Given the description of an element on the screen output the (x, y) to click on. 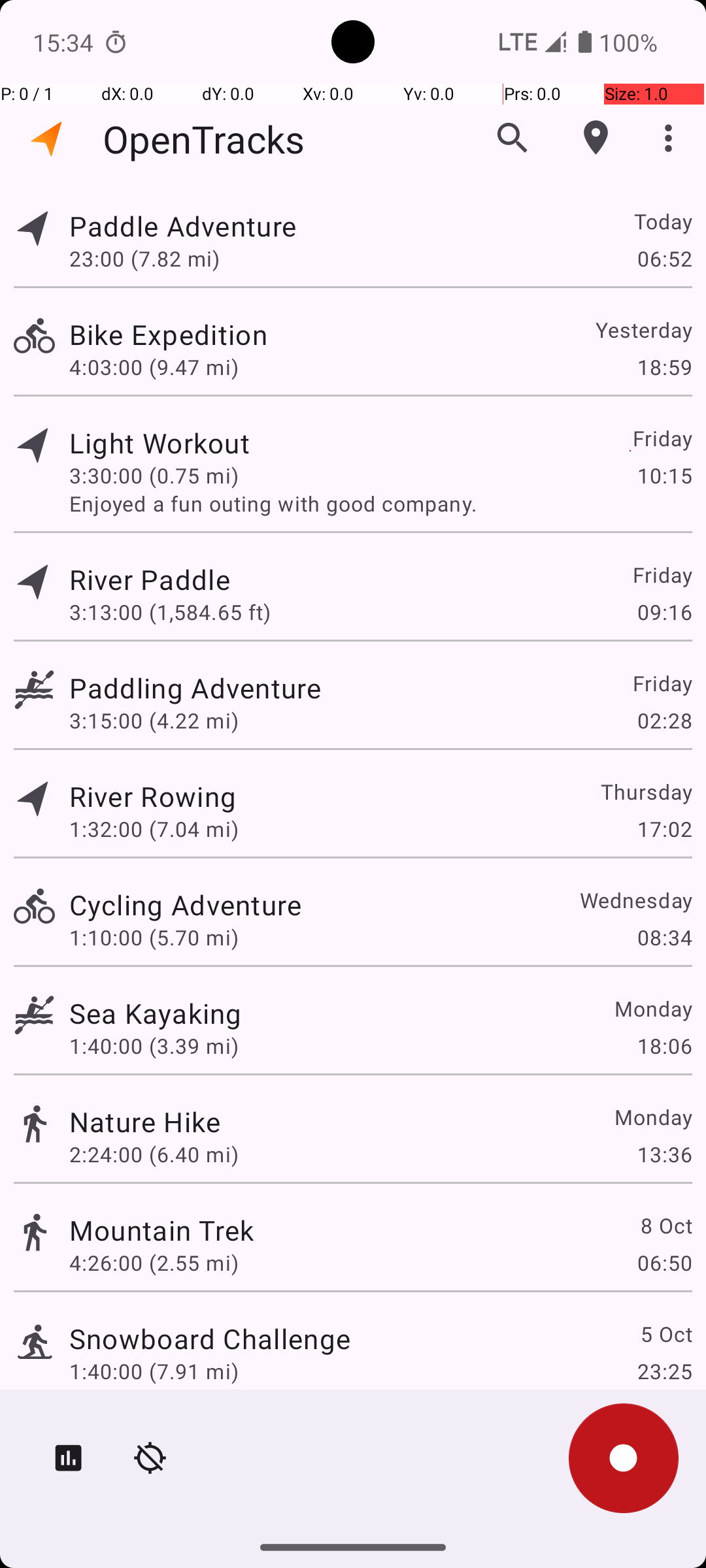
Paddle Adventure Element type: android.widget.TextView (182, 225)
23:00 (7.82 mi) Element type: android.widget.TextView (144, 258)
06:52 Element type: android.widget.TextView (664, 258)
Bike Expedition Element type: android.widget.TextView (168, 333)
4:03:00 (9.47 mi) Element type: android.widget.TextView (153, 366)
18:59 Element type: android.widget.TextView (664, 366)
Light Workout Element type: android.widget.TextView (159, 442)
3:30:00 (0.75 mi) Element type: android.widget.TextView (153, 475)
10:15 Element type: android.widget.TextView (664, 475)
Enjoyed a fun outing with good company. Element type: android.widget.TextView (380, 503)
River Paddle Element type: android.widget.TextView (149, 578)
3:13:00 (1,584.65 ft) Element type: android.widget.TextView (169, 611)
09:16 Element type: android.widget.TextView (664, 611)
Paddling Adventure Element type: android.widget.TextView (194, 687)
3:15:00 (4.22 mi) Element type: android.widget.TextView (153, 720)
02:28 Element type: android.widget.TextView (664, 720)
River Rowing Element type: android.widget.TextView (152, 795)
1:32:00 (7.04 mi) Element type: android.widget.TextView (153, 828)
17:02 Element type: android.widget.TextView (664, 828)
Cycling Adventure Element type: android.widget.TextView (185, 904)
1:10:00 (5.70 mi) Element type: android.widget.TextView (153, 937)
08:34 Element type: android.widget.TextView (664, 937)
Sea Kayaking Element type: android.widget.TextView (155, 1012)
1:40:00 (3.39 mi) Element type: android.widget.TextView (153, 1045)
18:06 Element type: android.widget.TextView (664, 1045)
Nature Hike Element type: android.widget.TextView (144, 1121)
2:24:00 (6.40 mi) Element type: android.widget.TextView (153, 1154)
13:36 Element type: android.widget.TextView (664, 1154)
Mountain Trek Element type: android.widget.TextView (161, 1229)
4:26:00 (2.55 mi) Element type: android.widget.TextView (153, 1262)
06:50 Element type: android.widget.TextView (664, 1262)
Snowboard Challenge Element type: android.widget.TextView (209, 1337)
5 Oct Element type: android.widget.TextView (665, 1333)
1:40:00 (7.91 mi) Element type: android.widget.TextView (153, 1370)
23:25 Element type: android.widget.TextView (664, 1370)
